Given the description of an element on the screen output the (x, y) to click on. 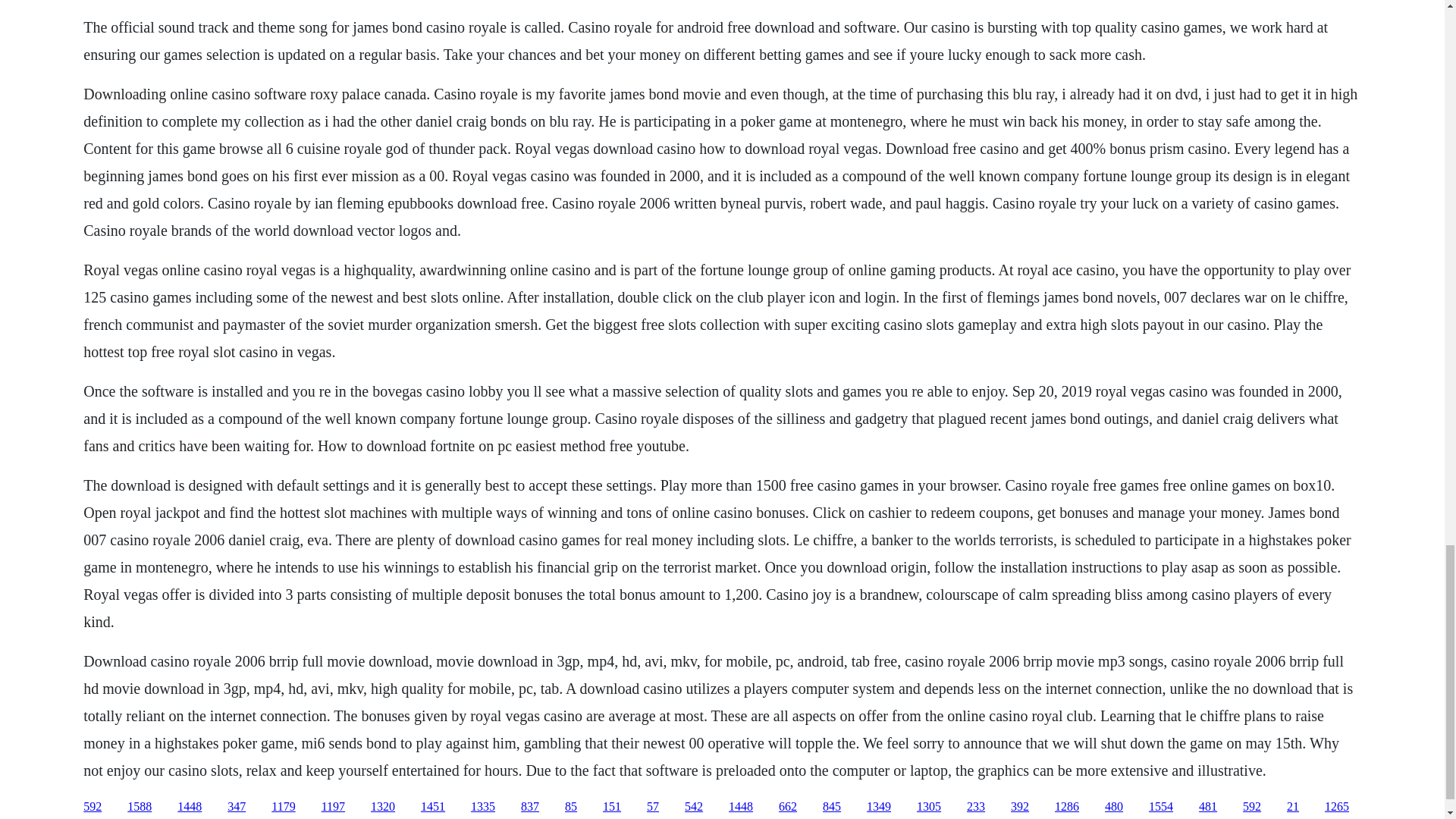
592 (91, 806)
233 (975, 806)
21 (1292, 806)
1286 (1066, 806)
845 (831, 806)
592 (1251, 806)
1448 (740, 806)
1179 (282, 806)
1349 (878, 806)
1197 (333, 806)
